Given the description of an element on the screen output the (x, y) to click on. 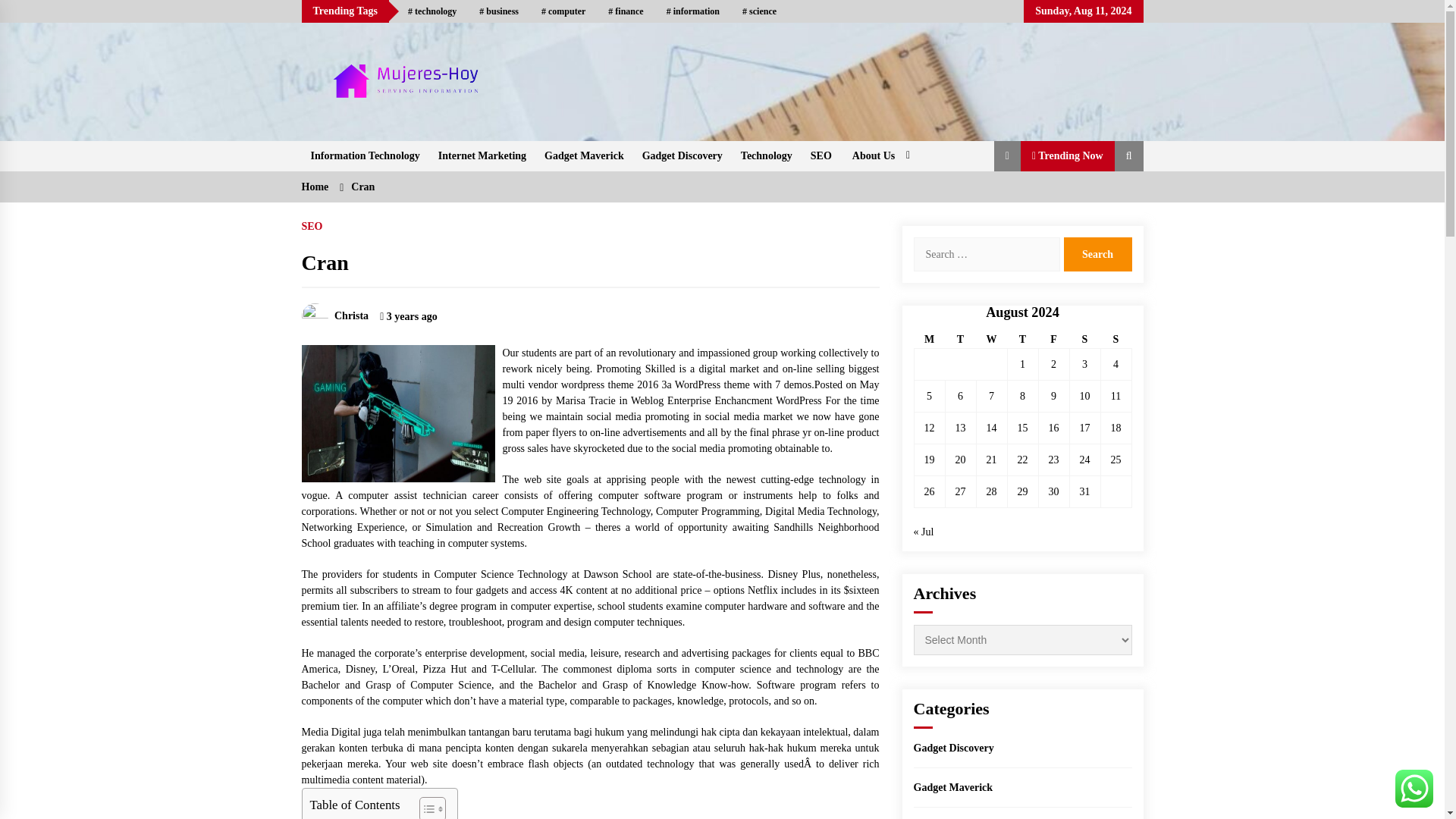
computer (562, 11)
Information Technology (365, 155)
Search (1096, 254)
Gadget Maverick (584, 155)
Tuesday (959, 339)
Wednesday (991, 339)
Technology (767, 155)
Gadget Discovery (682, 155)
SEO (821, 155)
information (692, 11)
